Given the description of an element on the screen output the (x, y) to click on. 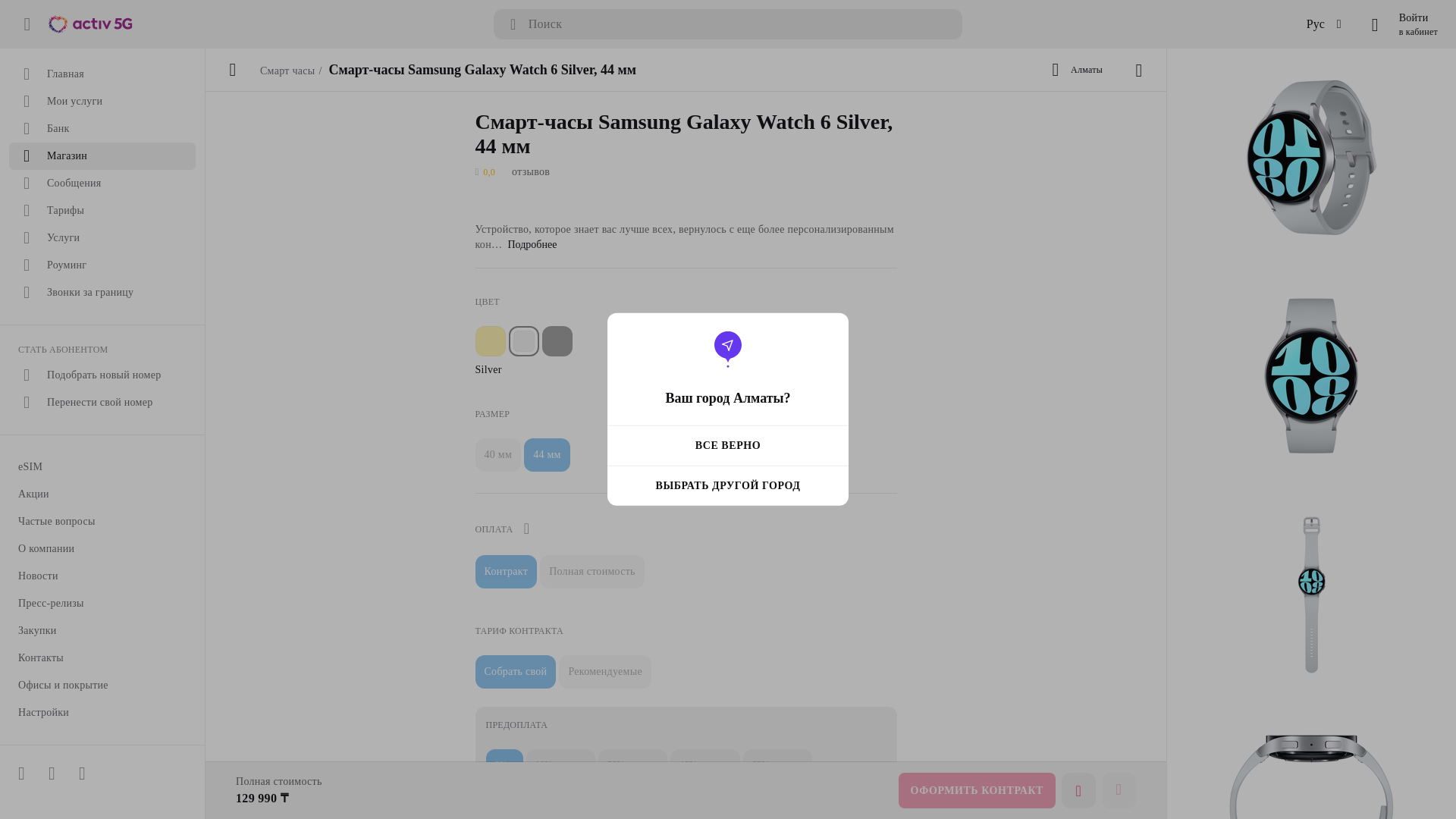
eSIM (101, 466)
